Given the description of an element on the screen output the (x, y) to click on. 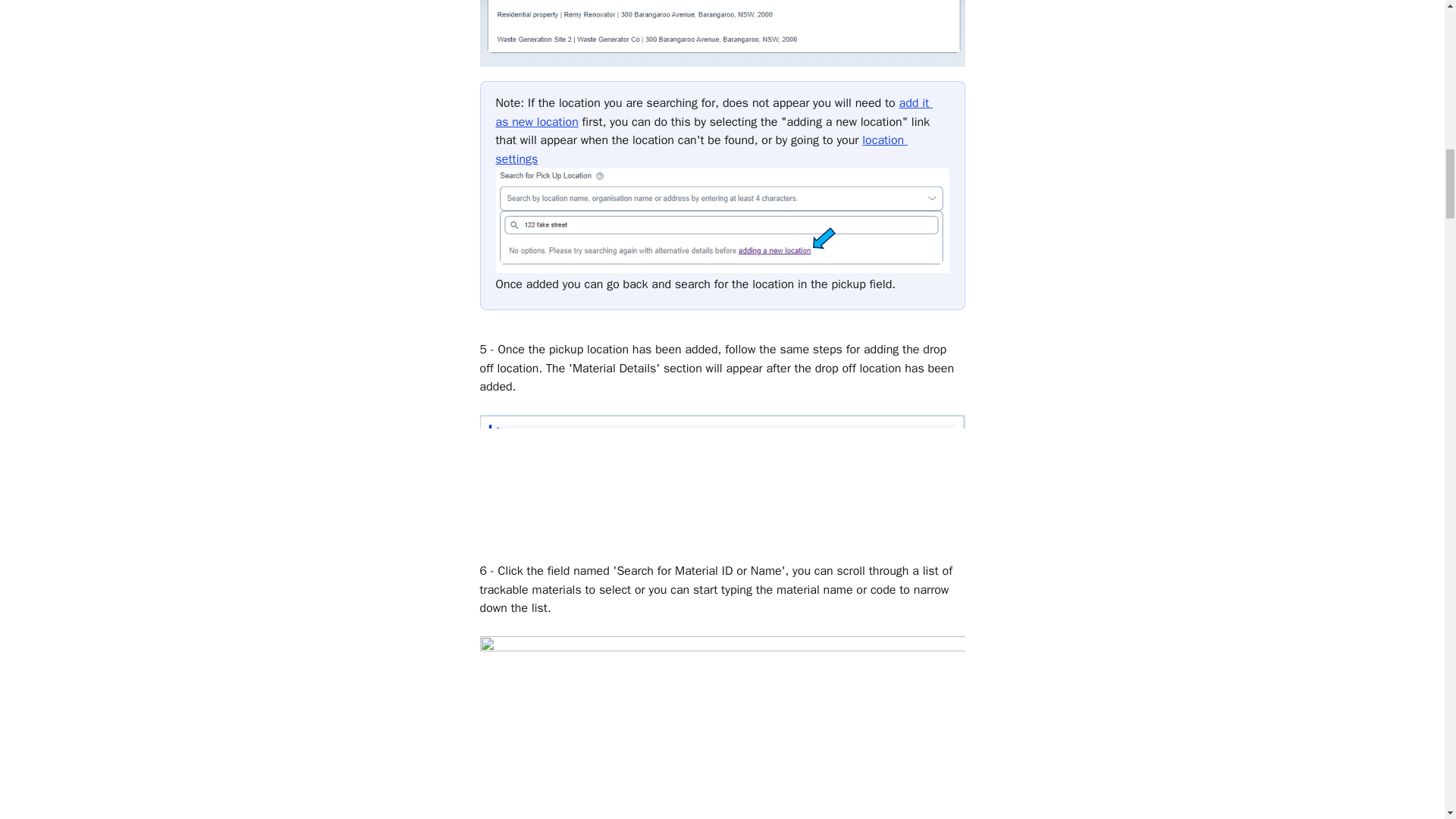
add it as new location (714, 111)
location settings (701, 149)
